Given the description of an element on the screen output the (x, y) to click on. 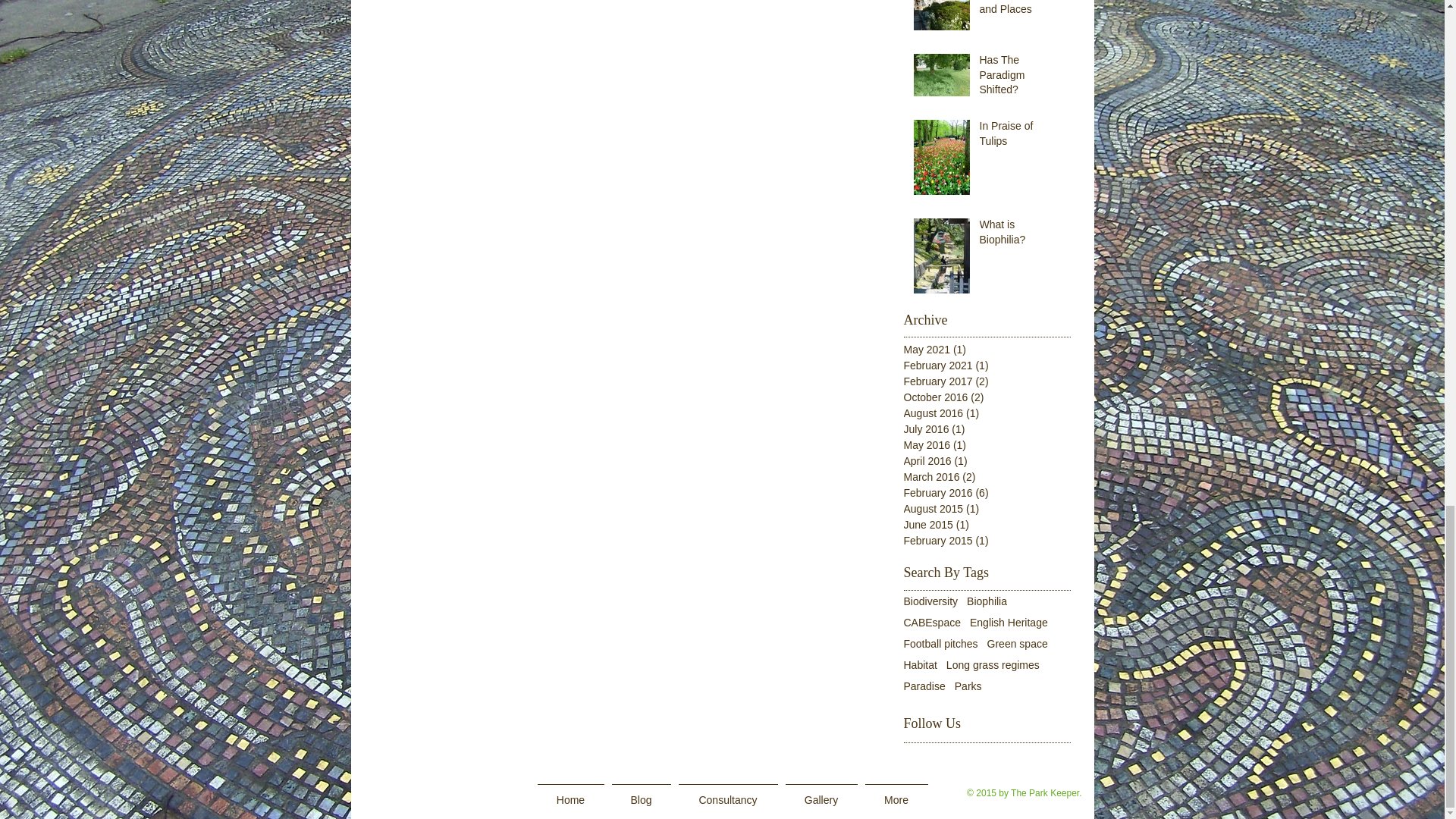
In Praise of Tulips (1020, 136)
What is Biophilia? (1020, 235)
Has The Paradigm Shifted? (1020, 78)
Great Spaces and Places (1020, 11)
Facebook Like (433, 795)
